Given the description of an element on the screen output the (x, y) to click on. 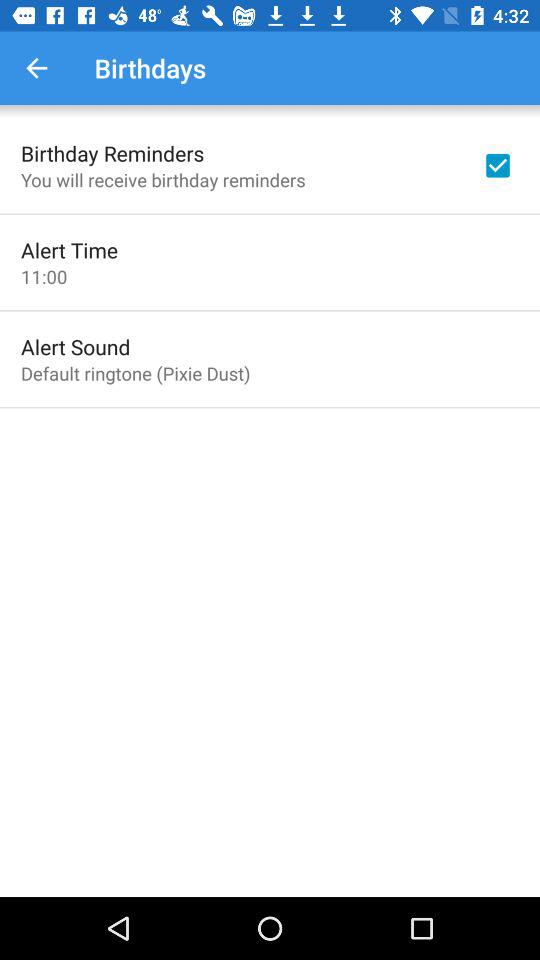
select item at the top right corner (497, 165)
